Given the description of an element on the screen output the (x, y) to click on. 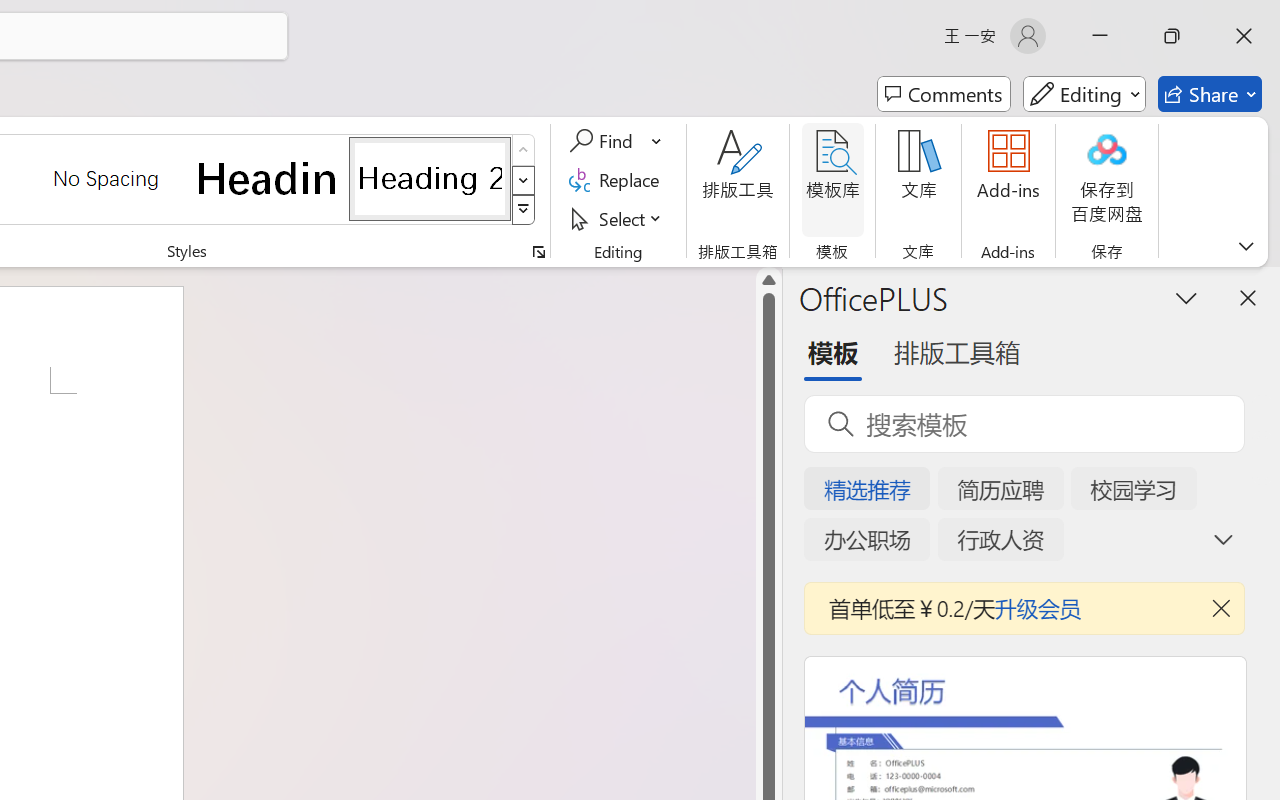
Row Down (523, 180)
Replace... (617, 179)
Task Pane Options (1186, 297)
Minimize (1099, 36)
Heading 1 (267, 178)
Restore Down (1172, 36)
Styles... (538, 252)
Find (604, 141)
Ribbon Display Options (1246, 245)
